Given the description of an element on the screen output the (x, y) to click on. 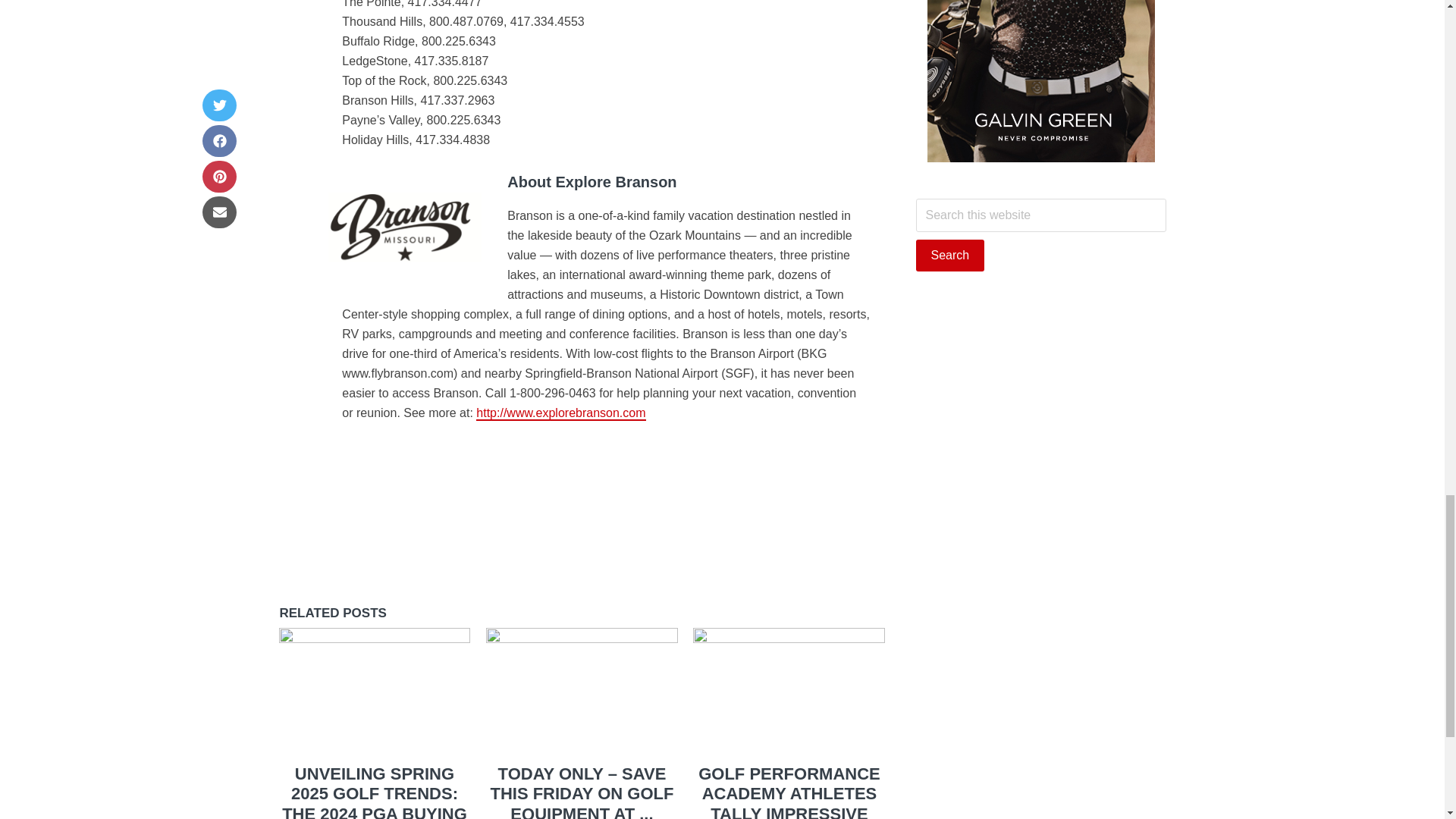
Search (950, 255)
Search (950, 255)
UNVEILING SPRING 2025 GOLF TRENDS: THE 2024 PGA BUYING SU... (374, 791)
Search (950, 255)
GOLF PERFORMANCE ACADEMY ATHLETES TALLY IMPRESSIVE JULY P... (789, 791)
